Given the description of an element on the screen output the (x, y) to click on. 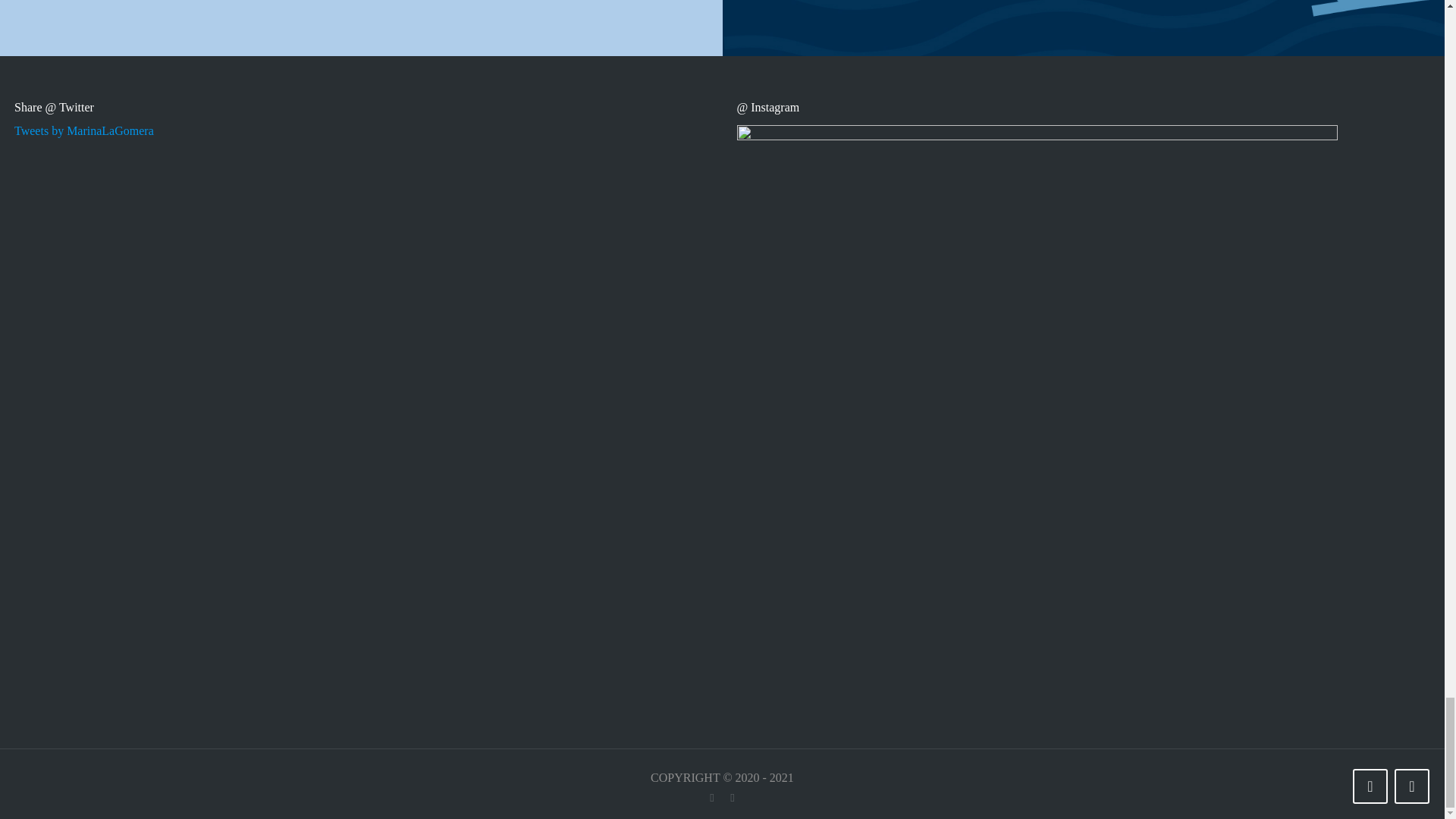
Tweets by MarinaLaGomera (84, 130)
